Given the description of an element on the screen output the (x, y) to click on. 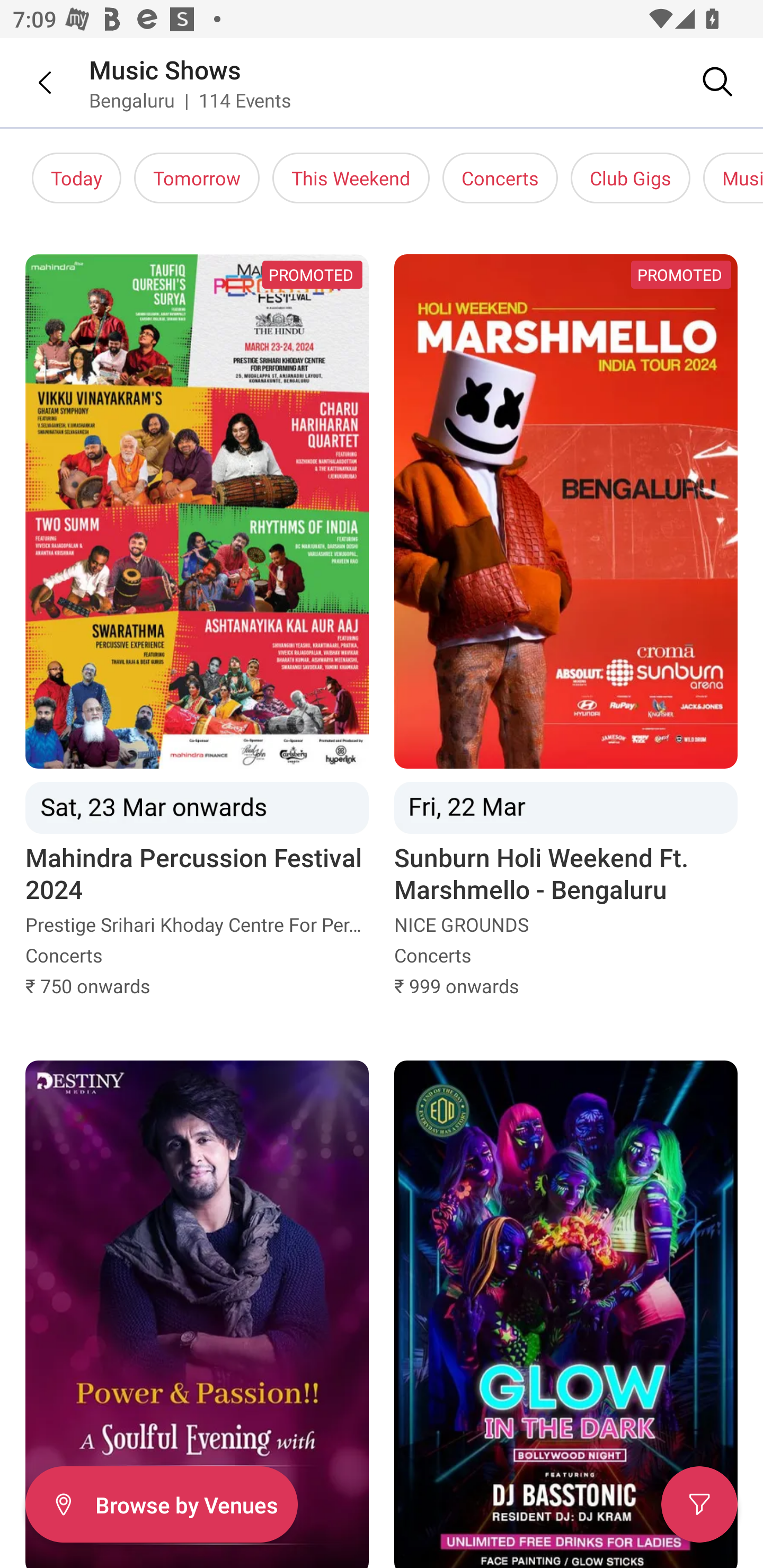
Back (31, 82)
Music Shows (165, 68)
Bengaluru  |  114 Events (190, 99)
Today (76, 177)
Tomorrow (196, 177)
This Weekend (350, 177)
Concerts (499, 177)
Club Gigs (630, 177)
Filter Browse by Venues (161, 1504)
Filter (699, 1504)
